Given the description of an element on the screen output the (x, y) to click on. 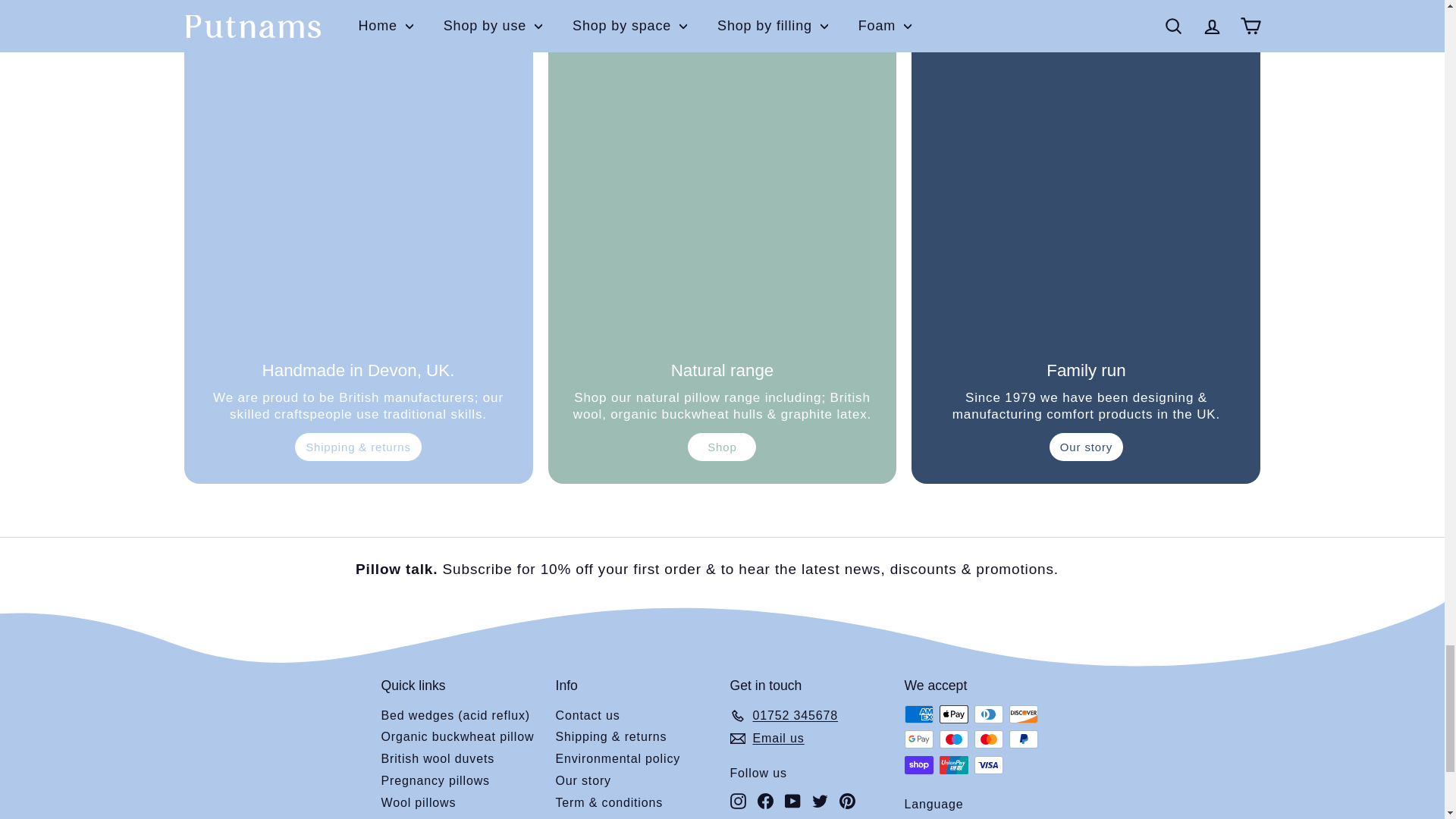
instagram (737, 801)
